Given the description of an element on the screen output the (x, y) to click on. 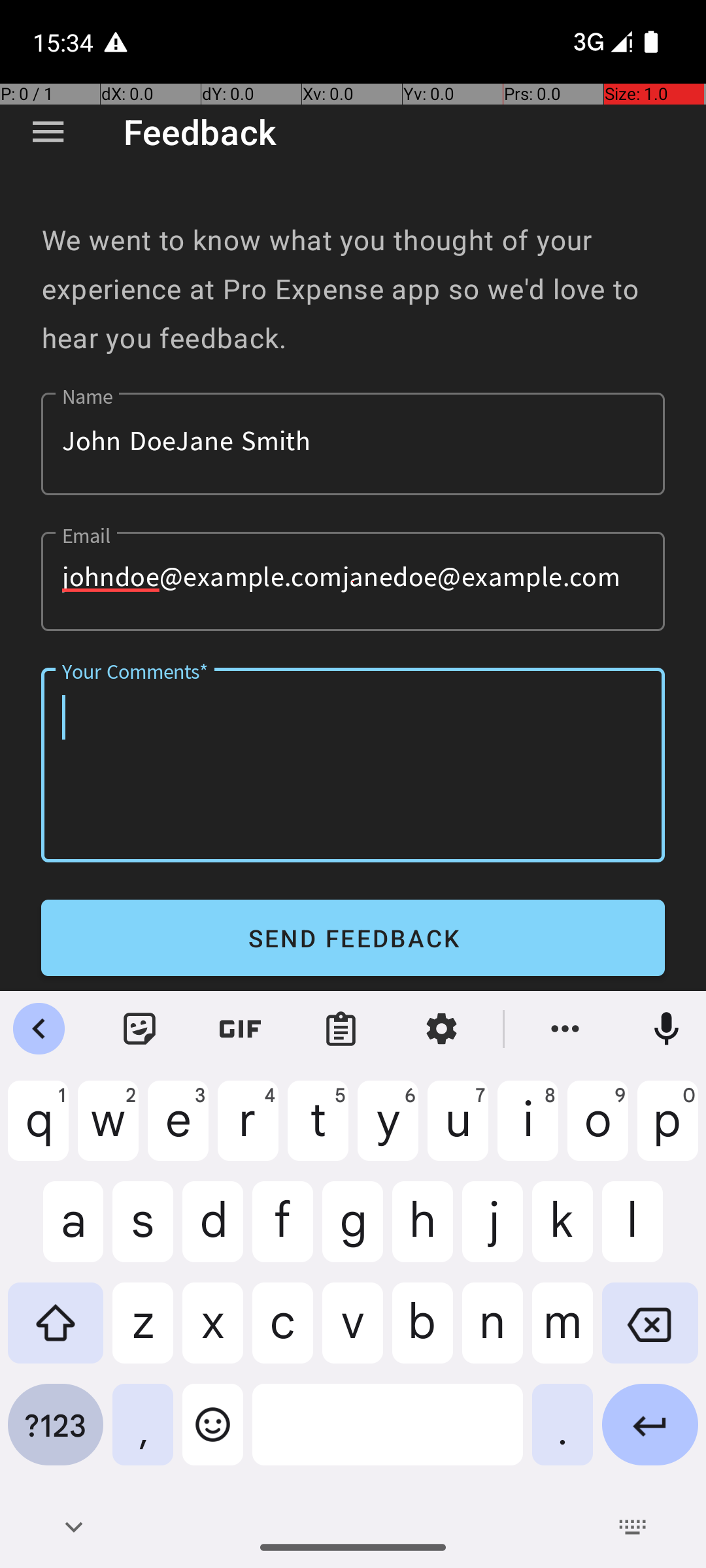
Feedback Element type: android.widget.TextView (200, 131)
We went to know what you thought of your experience at Pro Expense app so we'd love to hear you feedback. Element type: android.widget.TextView (352, 288)
John DoeJane Smith Element type: android.widget.EditText (352, 443)
johndoe@example.comjanedoe@example.com Element type: android.widget.EditText (352, 581)
Your Comments* Element type: android.widget.EditText (352, 764)
SEND FEEDBACK Element type: android.widget.Button (352, 937)
Close features menu Element type: android.widget.FrameLayout (39, 1028)
Sticker Keyboard Element type: android.widget.FrameLayout (139, 1028)
GIF Keyboard Element type: android.widget.FrameLayout (240, 1028)
Clipboard Element type: android.widget.FrameLayout (340, 1028)
More features Element type: android.widget.FrameLayout (565, 1028)
